Given the description of an element on the screen output the (x, y) to click on. 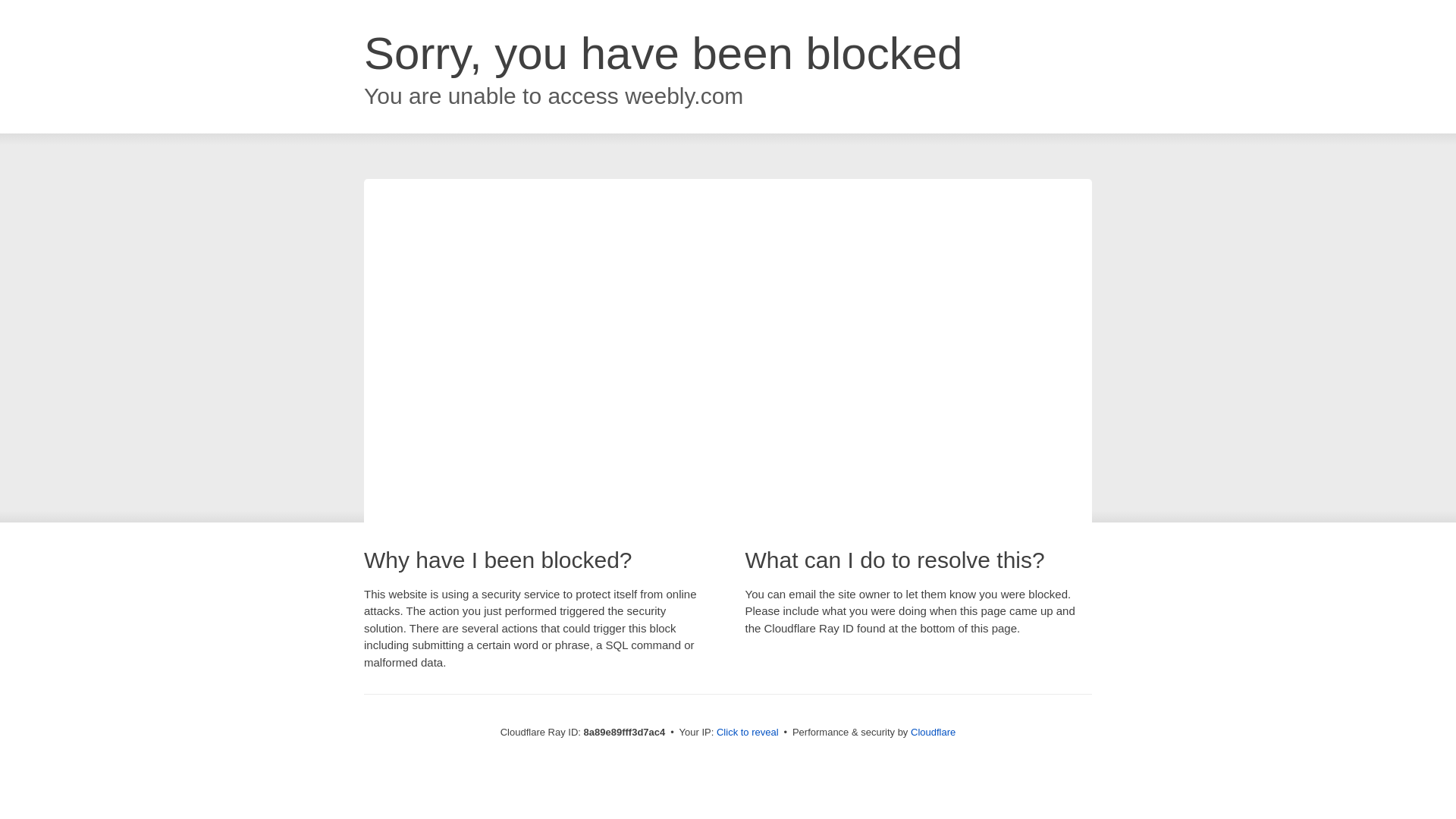
Click to reveal (747, 732)
Cloudflare (933, 731)
